Given the description of an element on the screen output the (x, y) to click on. 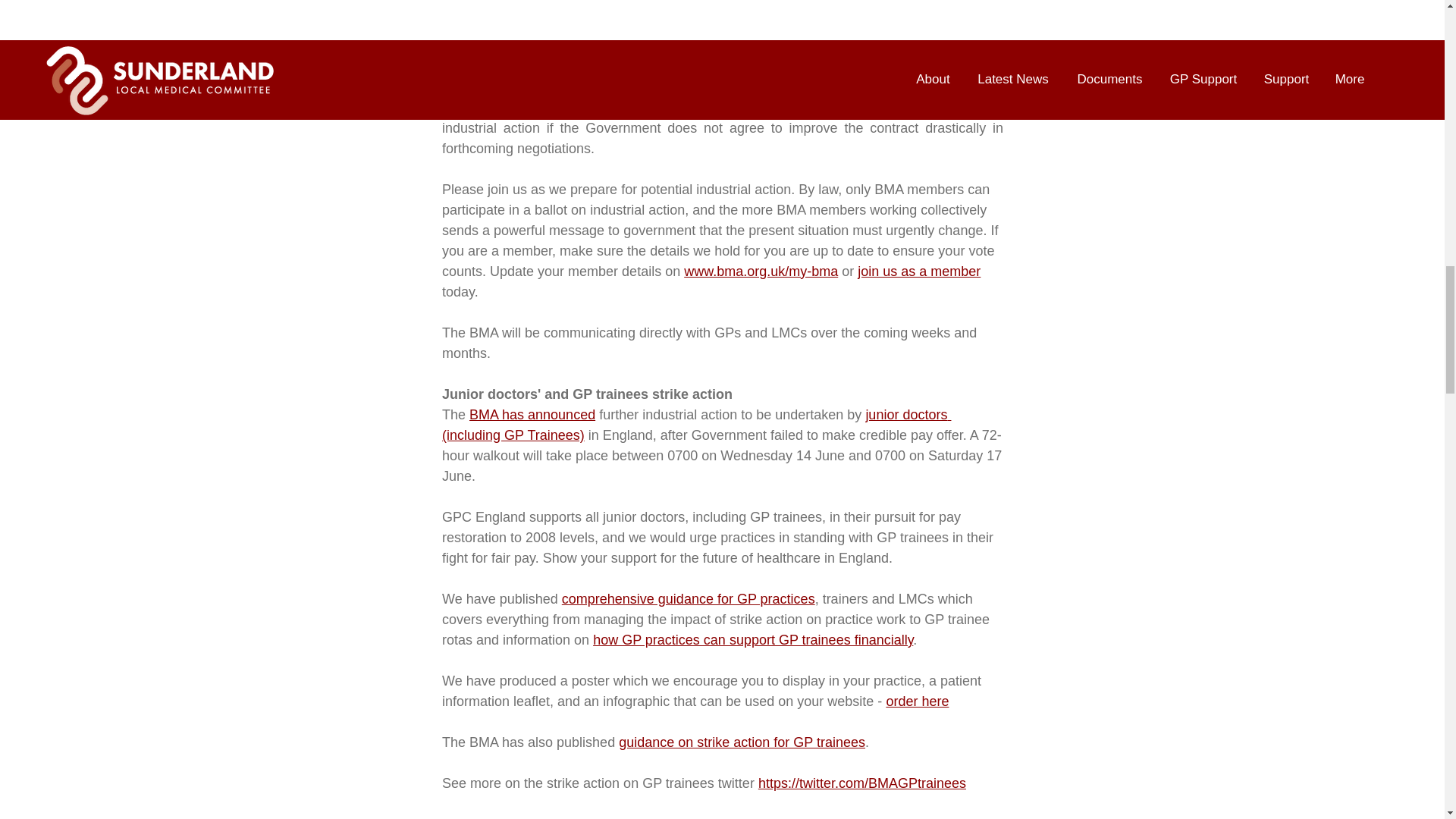
join us as a member (918, 271)
guidance on strike action for GP trainees (741, 742)
safe working guidance (731, 25)
BMA has announced (531, 414)
order here (917, 701)
comprehensive guidance for GP practices (686, 598)
how GP practices can support GP trainees financially (752, 639)
